Given the description of an element on the screen output the (x, y) to click on. 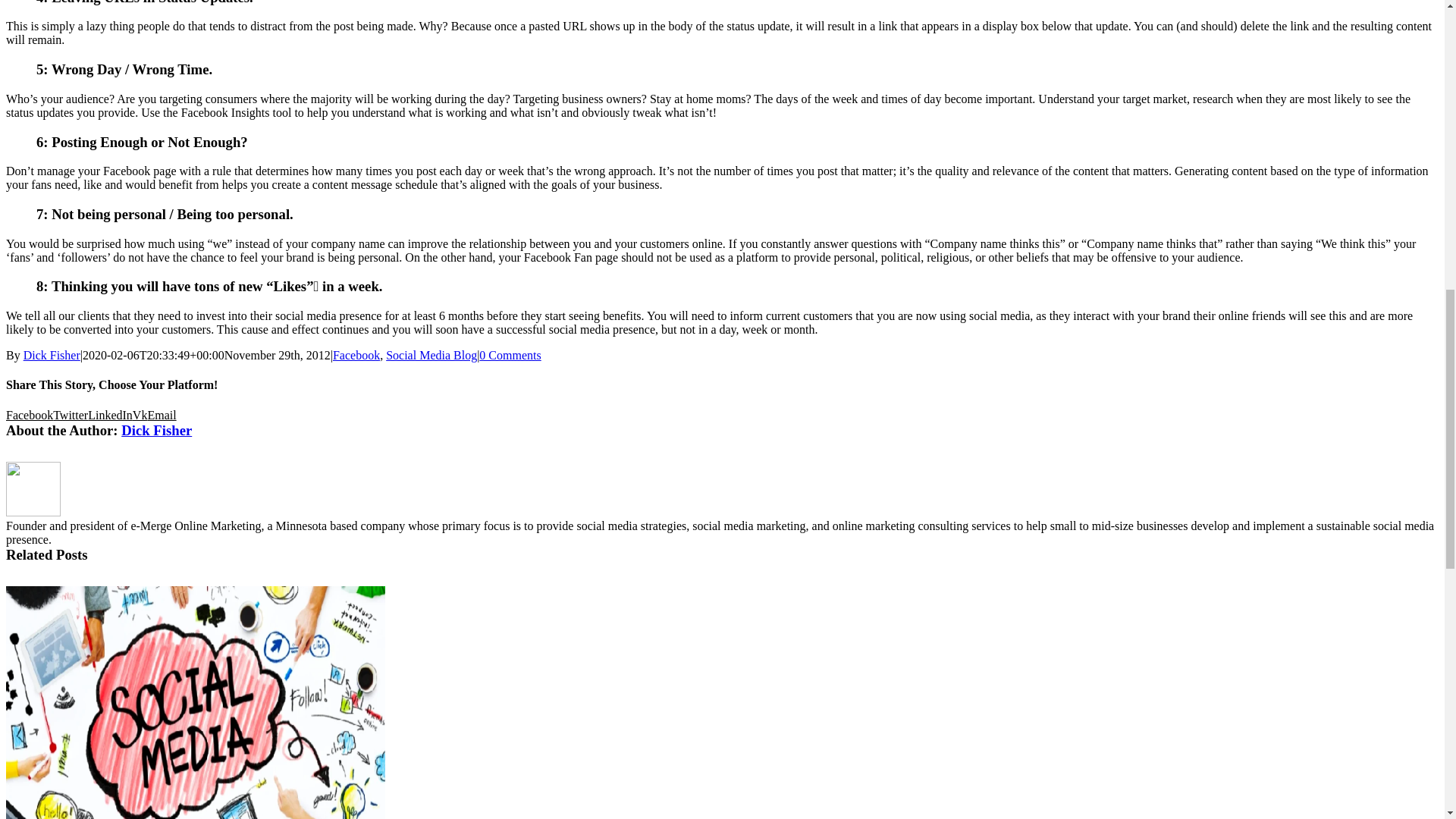
Facebook (28, 414)
Social Media Blog (431, 354)
Twitter (69, 414)
Facebook (28, 414)
LinkedIn (109, 414)
Vk (140, 414)
0 Comments (509, 354)
Dick Fisher (51, 354)
Email (161, 414)
Twitter (69, 414)
Dick Fisher (156, 430)
Email (161, 414)
LinkedIn (109, 414)
Vk (140, 414)
Facebook (356, 354)
